Given the description of an element on the screen output the (x, y) to click on. 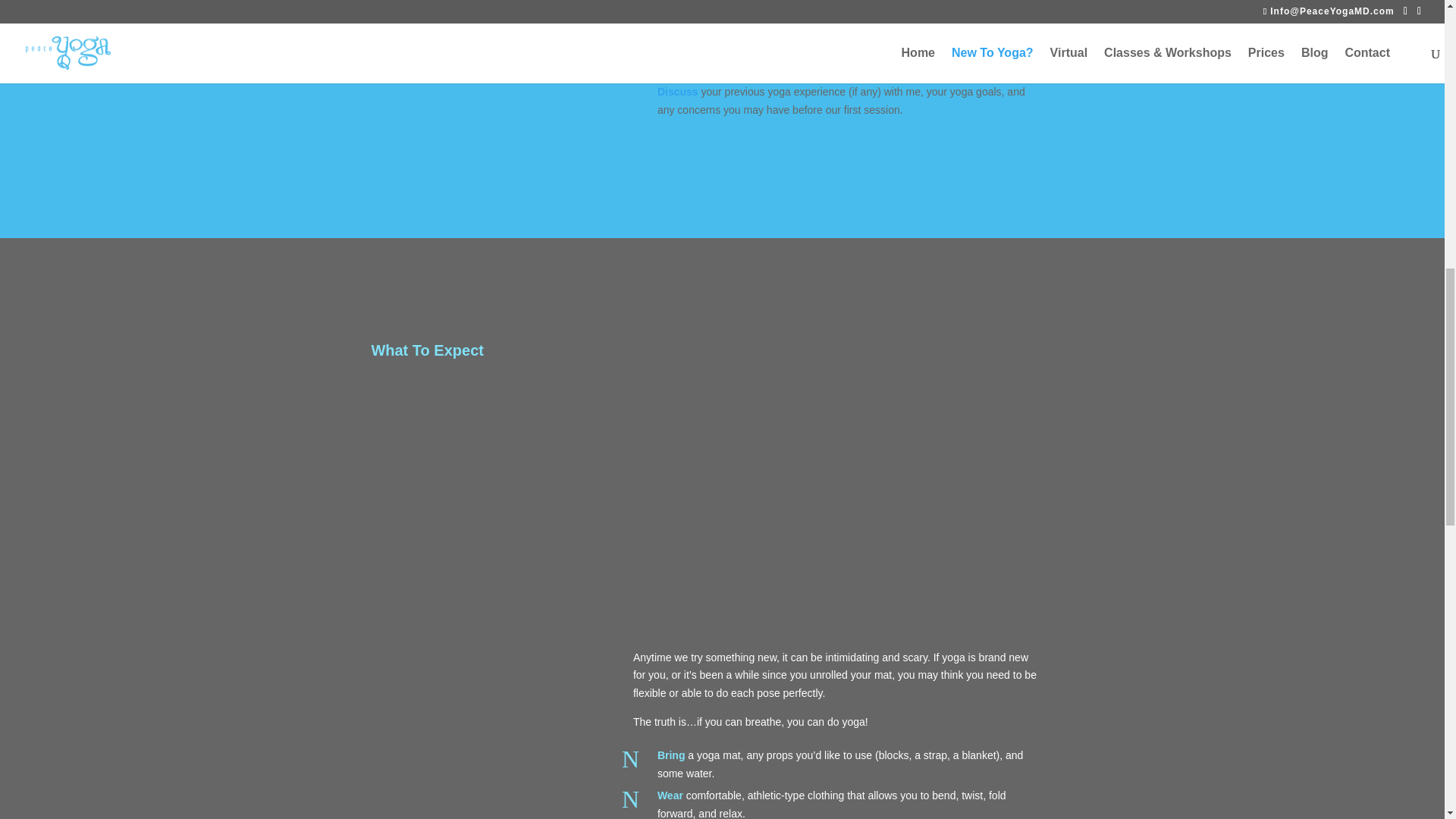
Select a date and time (713, 61)
N (633, 65)
Discuss (678, 91)
Email me (680, 21)
